Given the description of an element on the screen output the (x, y) to click on. 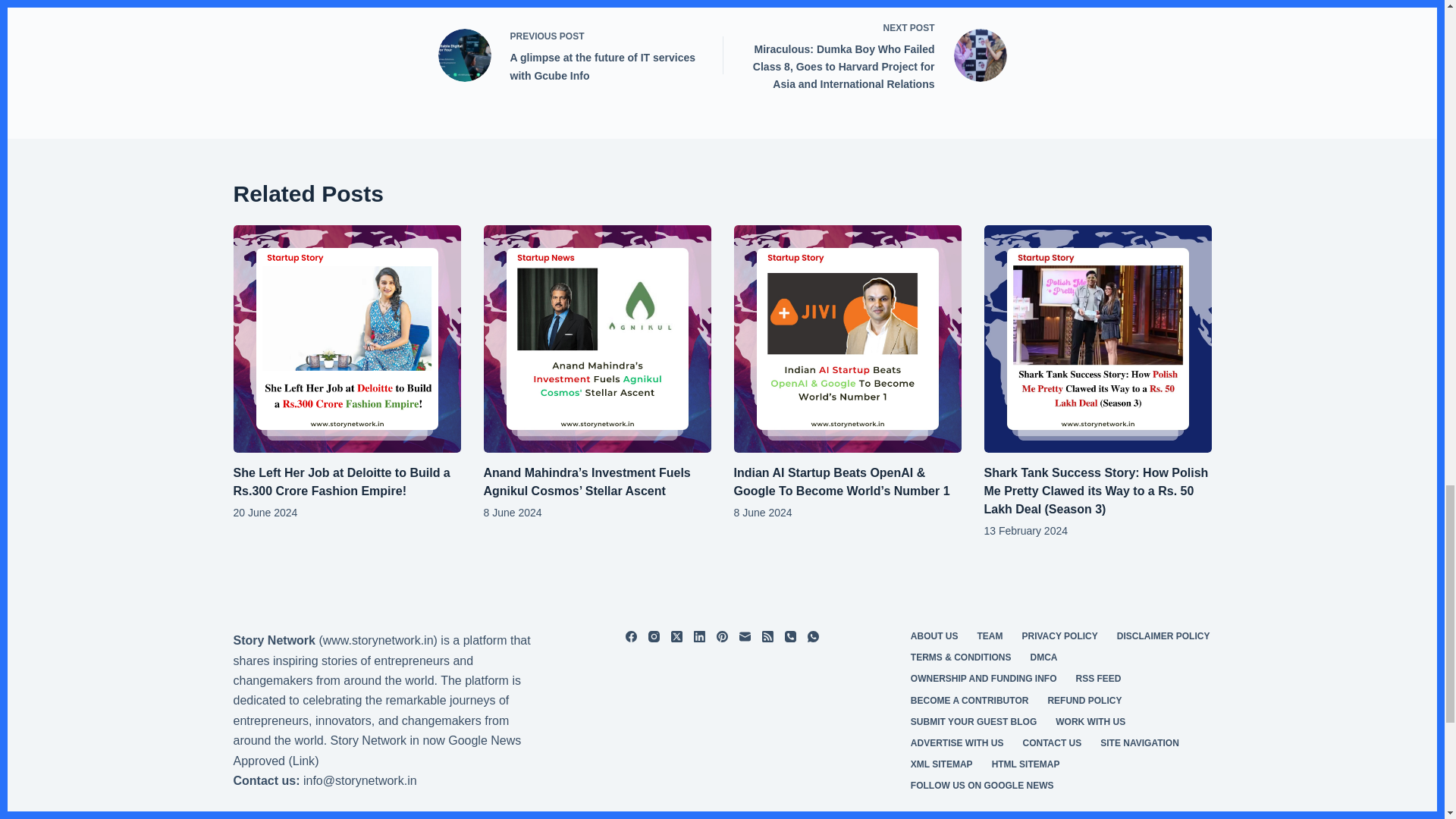
www.storynetwork.in (378, 640)
Link (303, 760)
Story Network (273, 640)
